Given the description of an element on the screen output the (x, y) to click on. 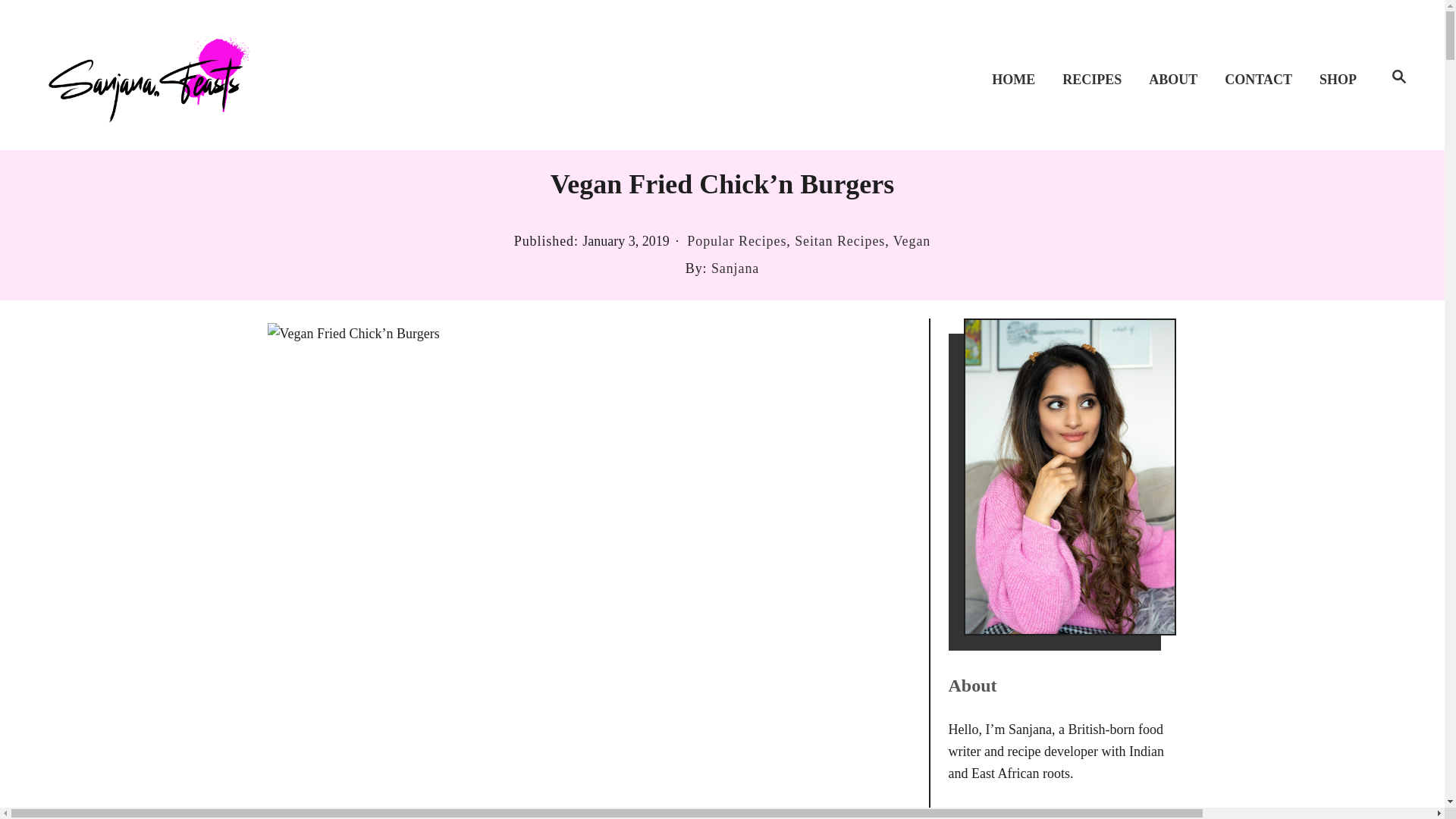
RECIPES (1096, 79)
Sanjana (734, 268)
Sanjana.Feasts (149, 74)
ABOUT (1177, 79)
Popular Recipes (736, 240)
Seitan Recipes (839, 240)
SHOP (1342, 79)
Vegan (911, 240)
Search (1400, 77)
HOME (1017, 79)
CONTACT (1262, 79)
